Given the description of an element on the screen output the (x, y) to click on. 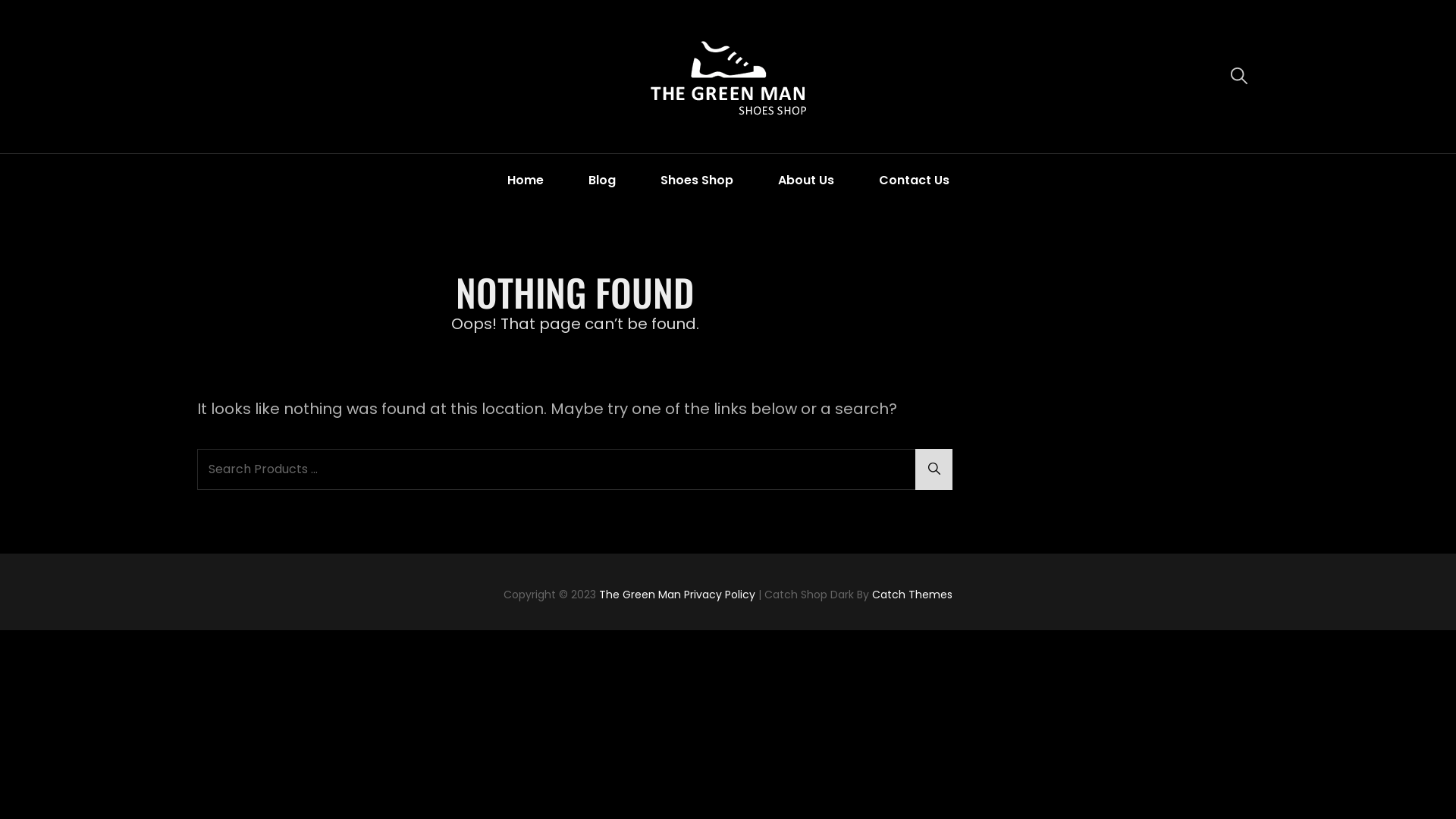
Search Element type: text (933, 468)
Shoes Shop Element type: text (696, 179)
The Green Man Element type: text (639, 594)
About Us Element type: text (804, 179)
Blog Element type: text (601, 179)
The Green Man Element type: text (953, 100)
Contact Us Element type: text (913, 179)
Home Element type: text (525, 179)
Privacy Policy Element type: text (719, 594)
Catch Themes Element type: text (912, 594)
